Given the description of an element on the screen output the (x, y) to click on. 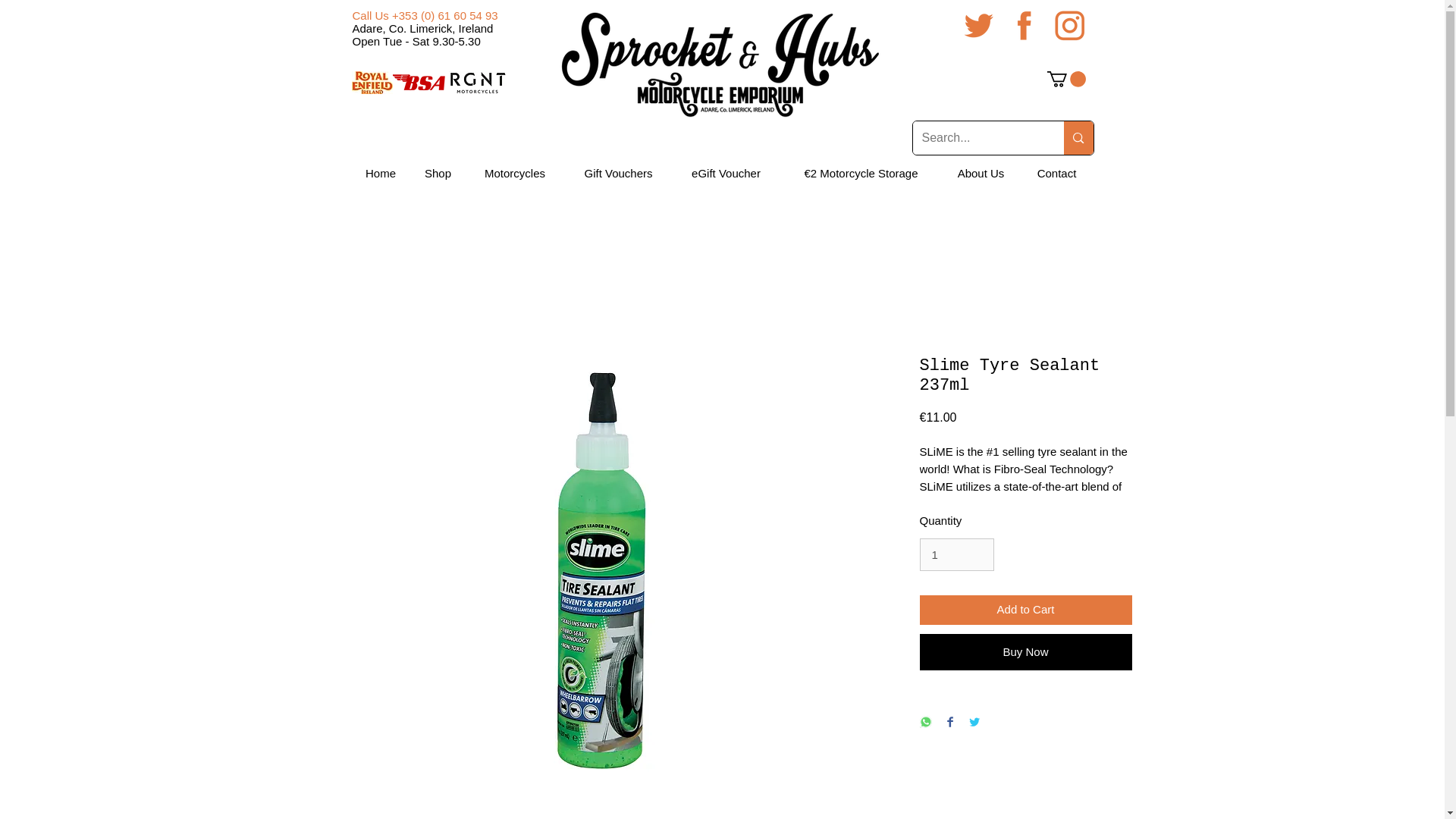
Home (380, 173)
Gift Vouchers (617, 173)
Shop (437, 173)
Motorcycles (514, 173)
1 (955, 554)
eGift Voucher (724, 173)
